Given the description of an element on the screen output the (x, y) to click on. 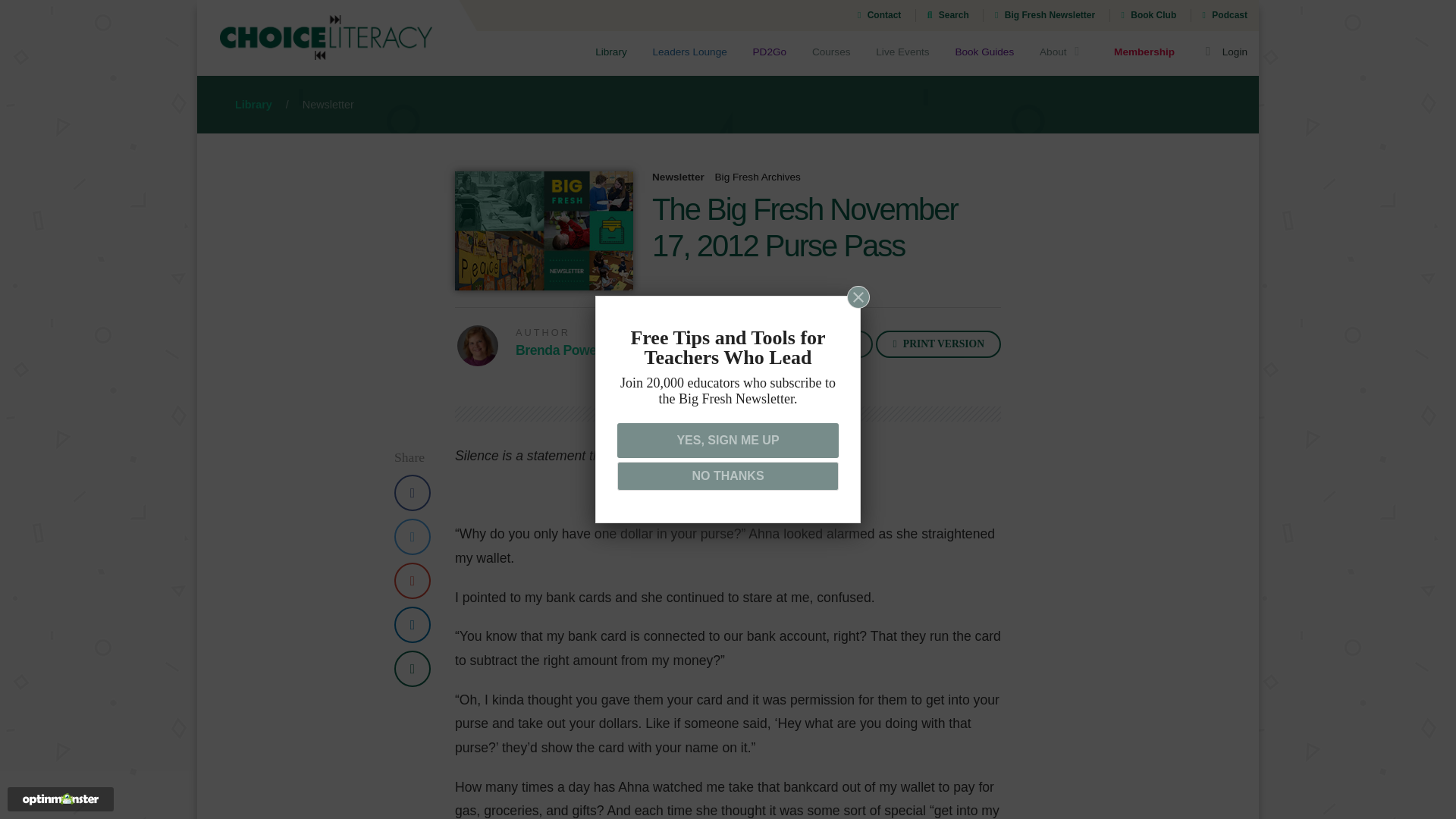
Podcast (1224, 15)
Contact (879, 15)
About (1063, 53)
MEMBER LOGIN (808, 343)
Login (1224, 53)
Library (611, 53)
PD2Go (769, 53)
Leaders Lounge (690, 53)
Library (253, 104)
PRINT VERSION (938, 343)
Live Events (902, 53)
Book Club (1148, 15)
Big Fresh Archives (757, 176)
Brenda Power (558, 350)
Membership (1144, 53)
